Given the description of an element on the screen output the (x, y) to click on. 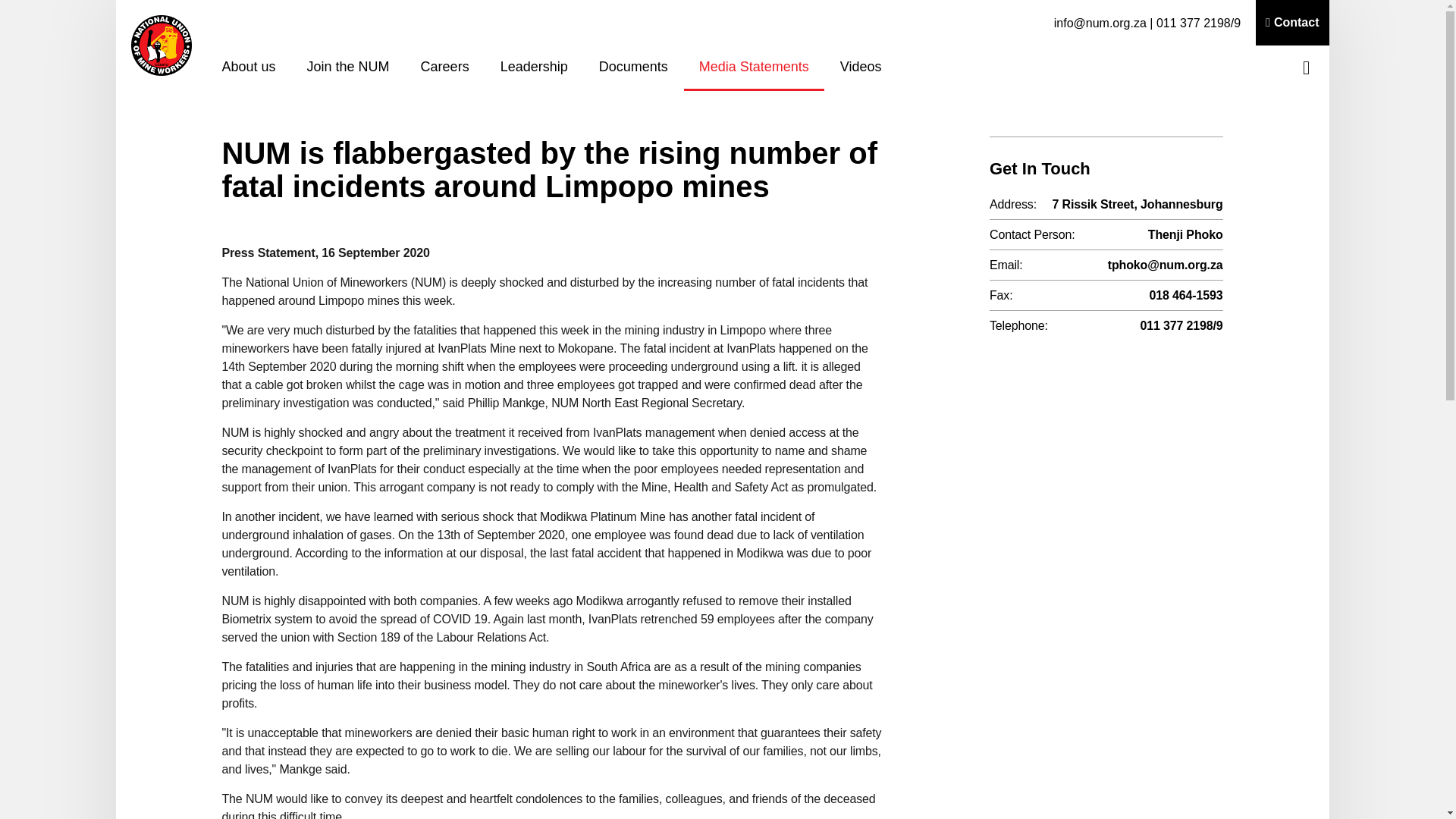
Careers (445, 67)
Documents (632, 67)
Contact (1291, 22)
Skip to main content (722, 16)
Join the NUM (348, 67)
Videos (860, 67)
Leadership (533, 67)
Media Statements (754, 67)
National Union of Mine Workers  (160, 45)
About us (247, 67)
